Given the description of an element on the screen output the (x, y) to click on. 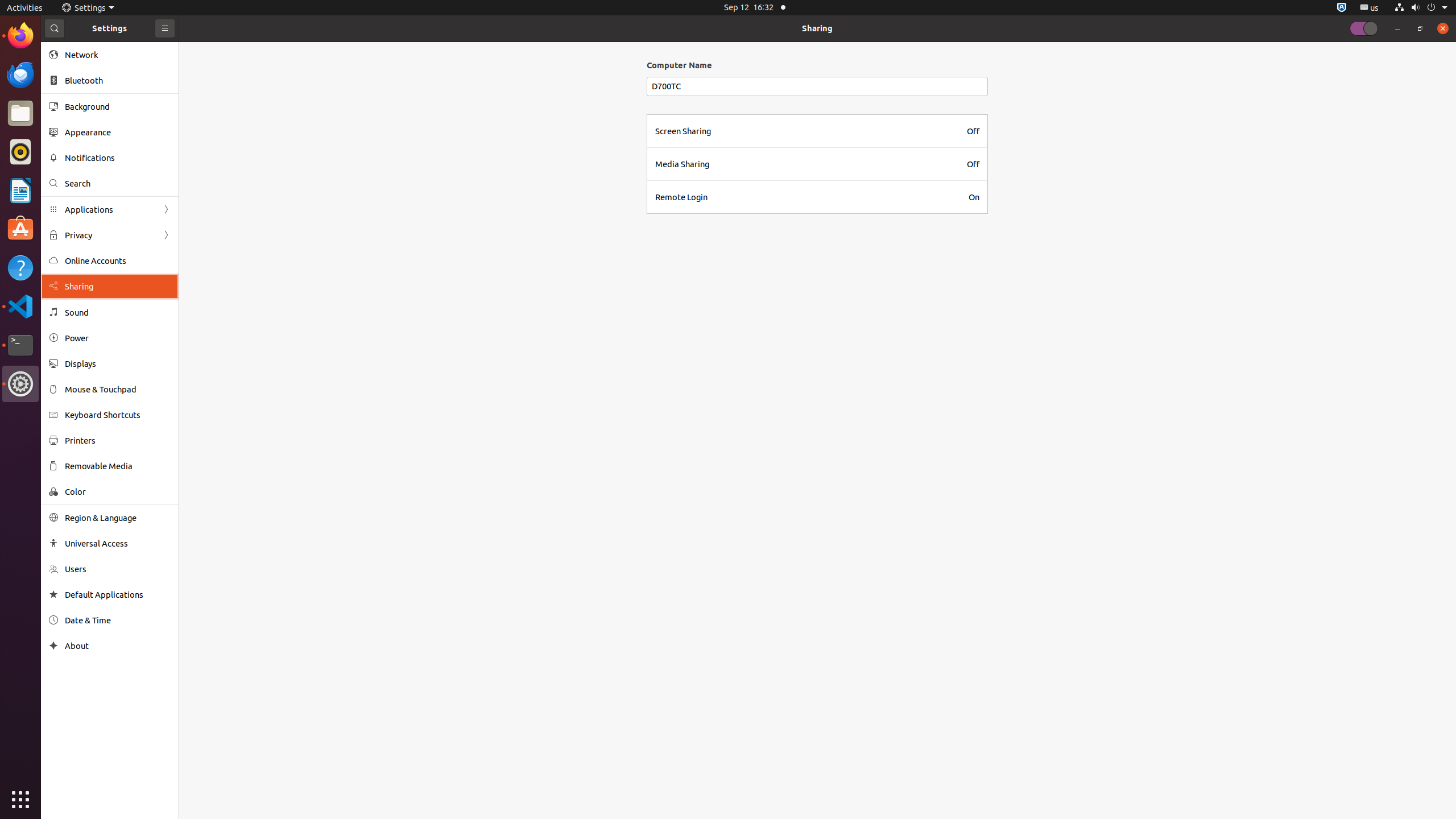
Computer Name Element type: label (816, 64)
Off Element type: label (972, 130)
Notifications Element type: label (117, 157)
Settings Element type: push-button (20, 383)
